Given the description of an element on the screen output the (x, y) to click on. 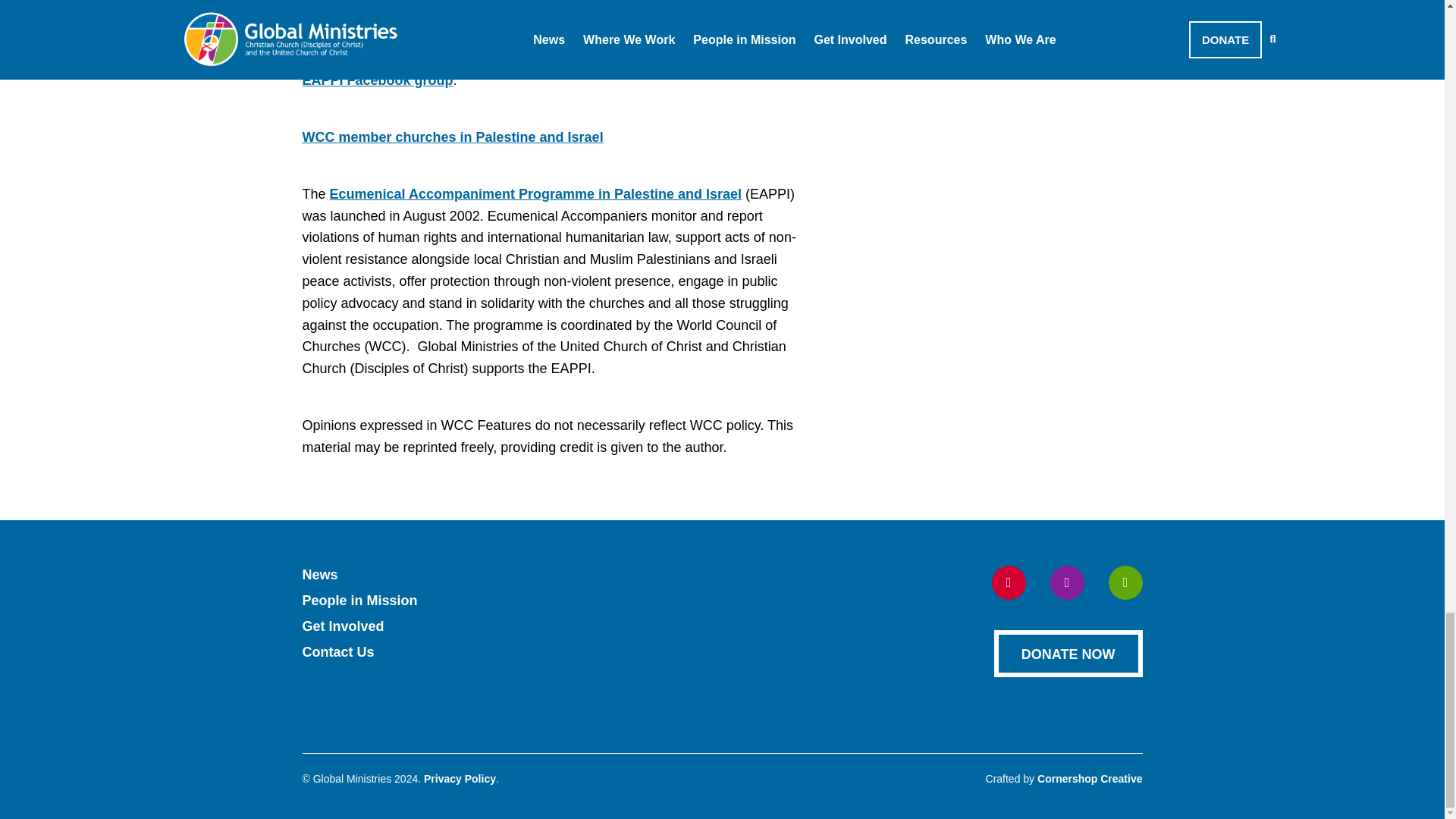
Follow us on Twitter (1066, 582)
Follow us on Vimeo (1125, 582)
Follow us on Facebook (1008, 582)
